Given the description of an element on the screen output the (x, y) to click on. 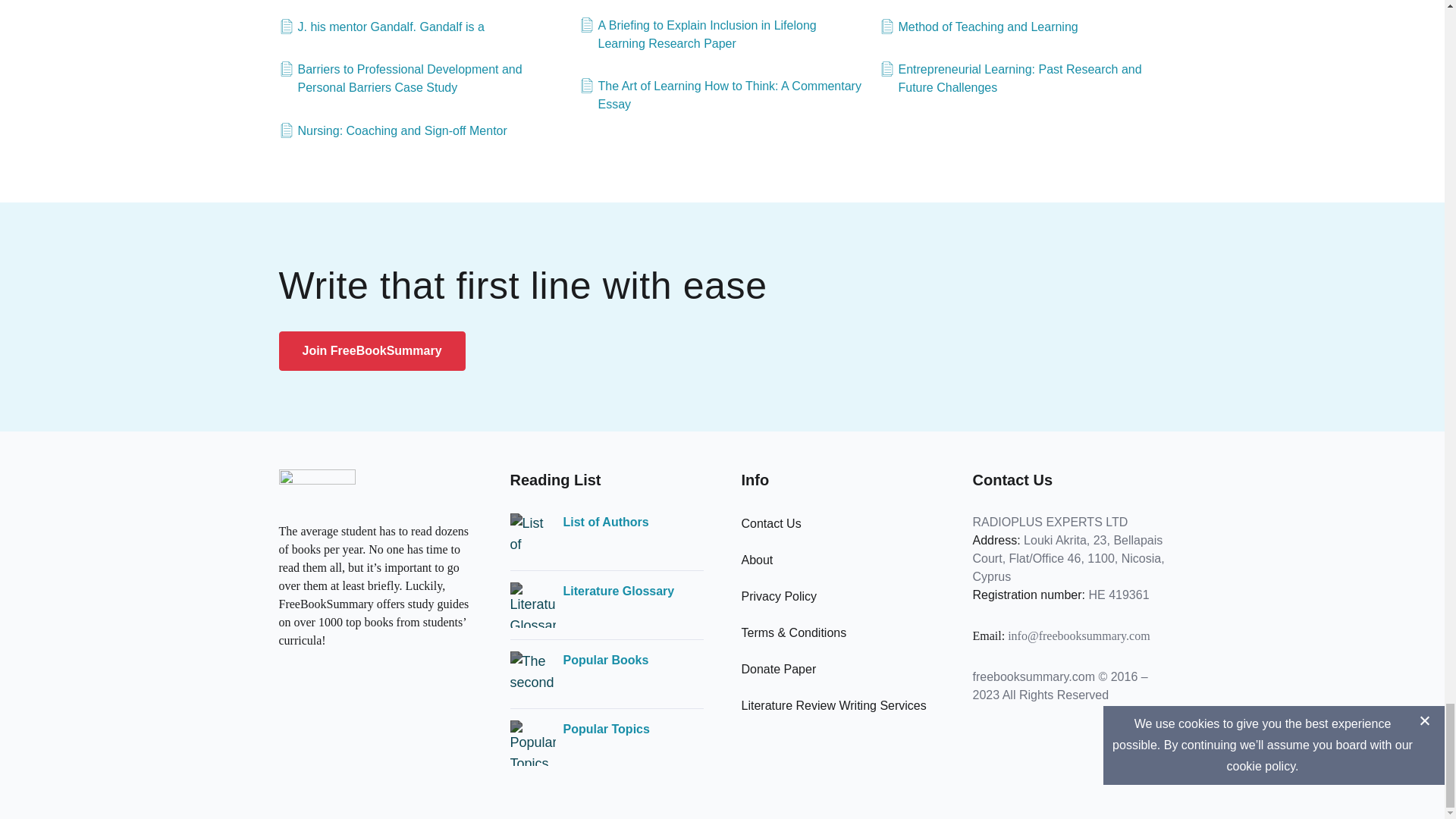
Popular Books (604, 660)
Nursing: Coaching and Sign-off Mentor (392, 131)
Literature Glossary (618, 591)
J. his mentor Gandalf. Gandalf is a (381, 27)
The Art of Learning How to Think: A Commentary Essay (722, 94)
Method of Teaching and Learning (978, 27)
List of Authors (604, 522)
